Given the description of an element on the screen output the (x, y) to click on. 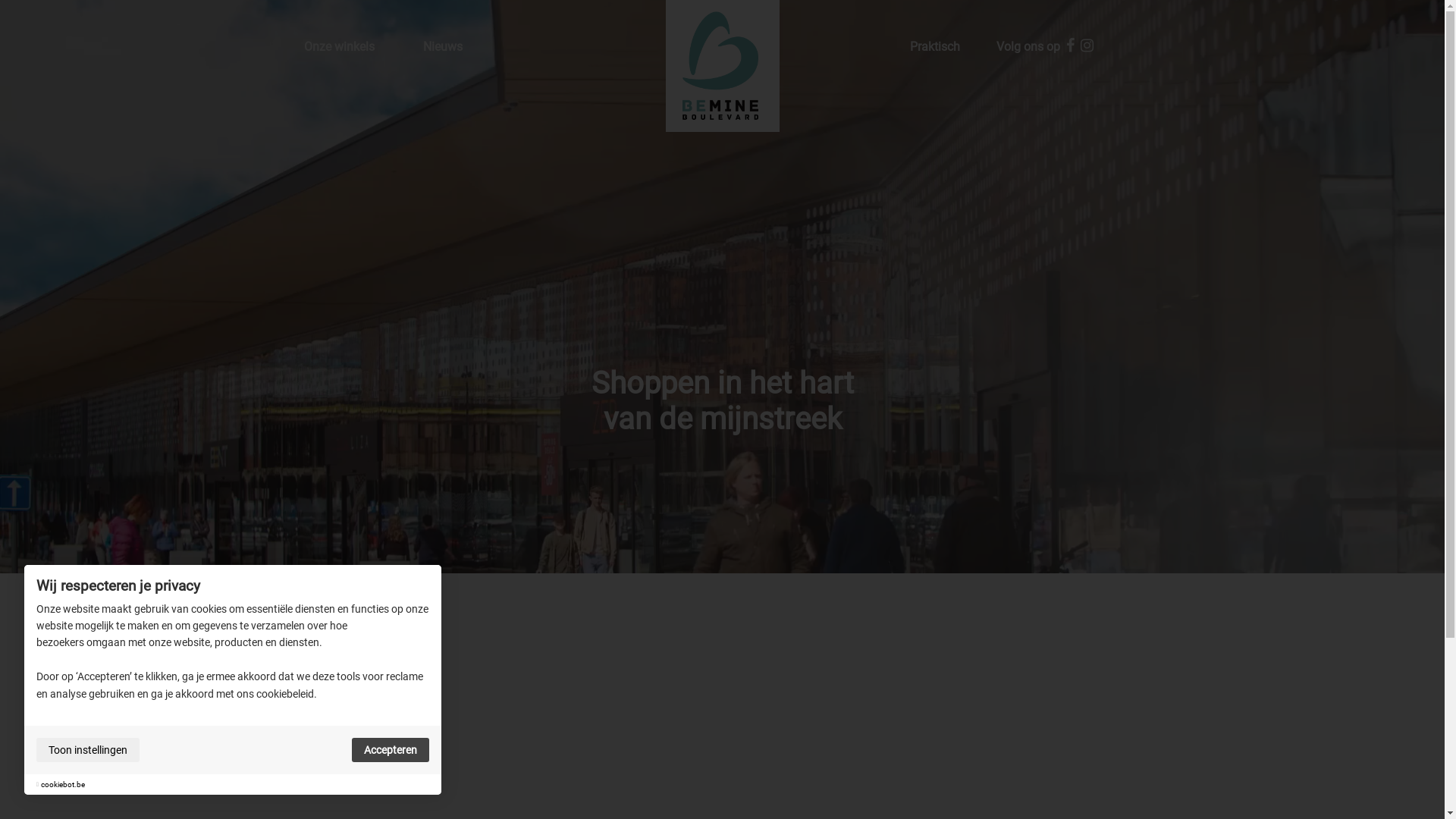
Accepteren Element type: text (390, 749)
Toon instellingen Element type: text (87, 749)
Onze winkels Element type: text (338, 46)
cookiebot.be Element type: text (62, 784)
Instagram Element type: hover (1086, 46)
Facebook Element type: hover (1070, 46)
Praktisch Element type: text (934, 46)
Nieuws Element type: text (442, 46)
